Given the description of an element on the screen output the (x, y) to click on. 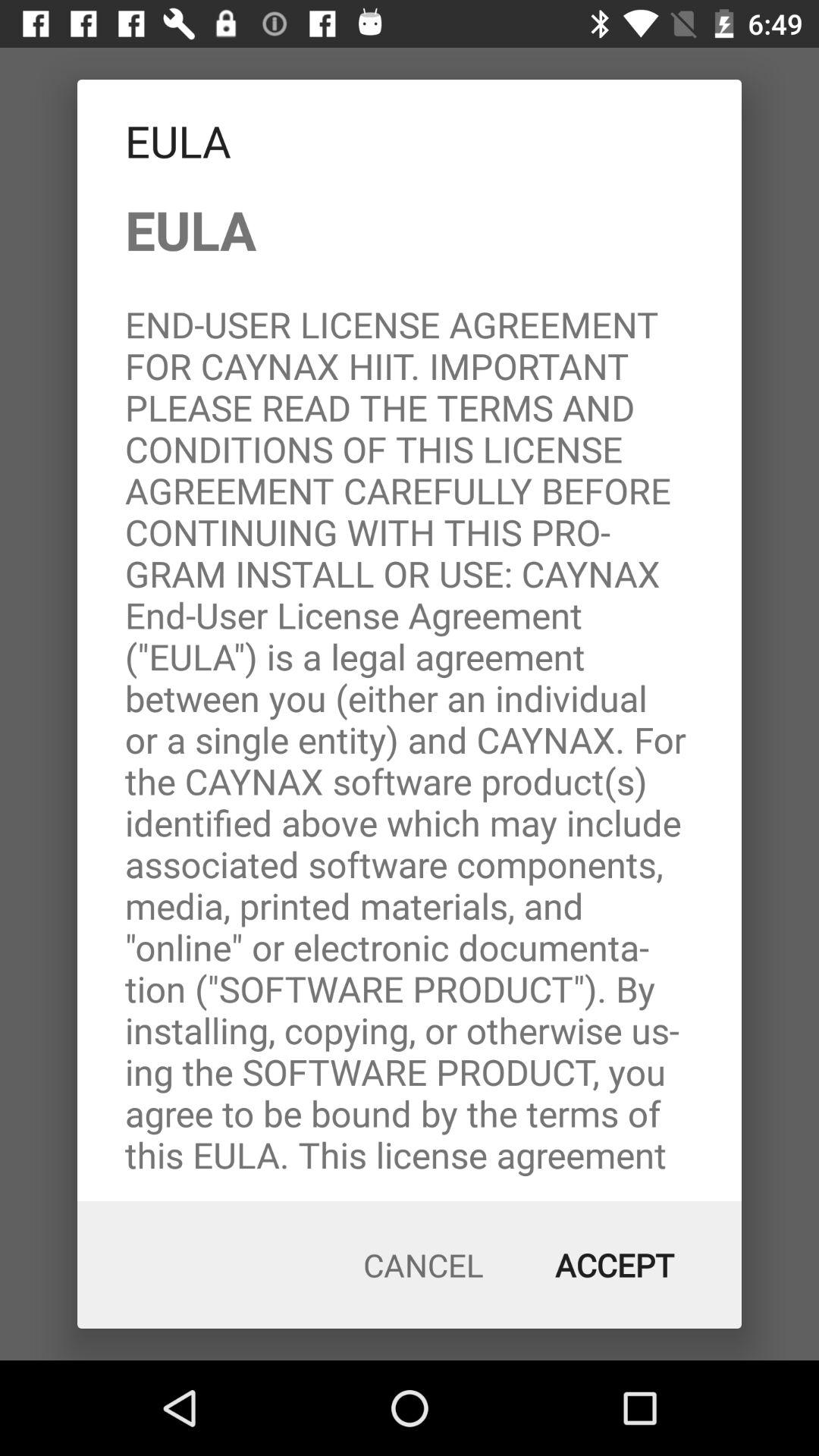
choose icon next to the accept button (422, 1264)
